Given the description of an element on the screen output the (x, y) to click on. 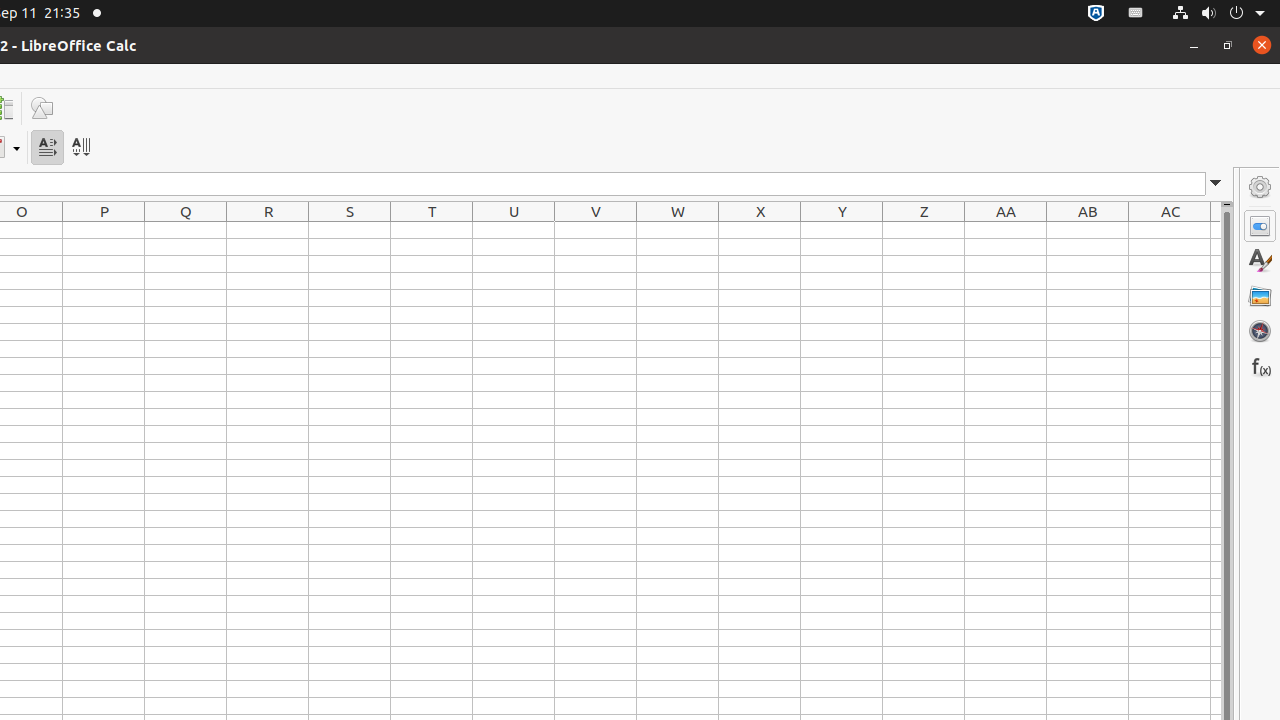
Text direction from top to bottom Element type: toggle-button (80, 147)
Y1 Element type: table-cell (842, 230)
Text direction from left to right Element type: toggle-button (47, 147)
V1 Element type: table-cell (596, 230)
